Given the description of an element on the screen output the (x, y) to click on. 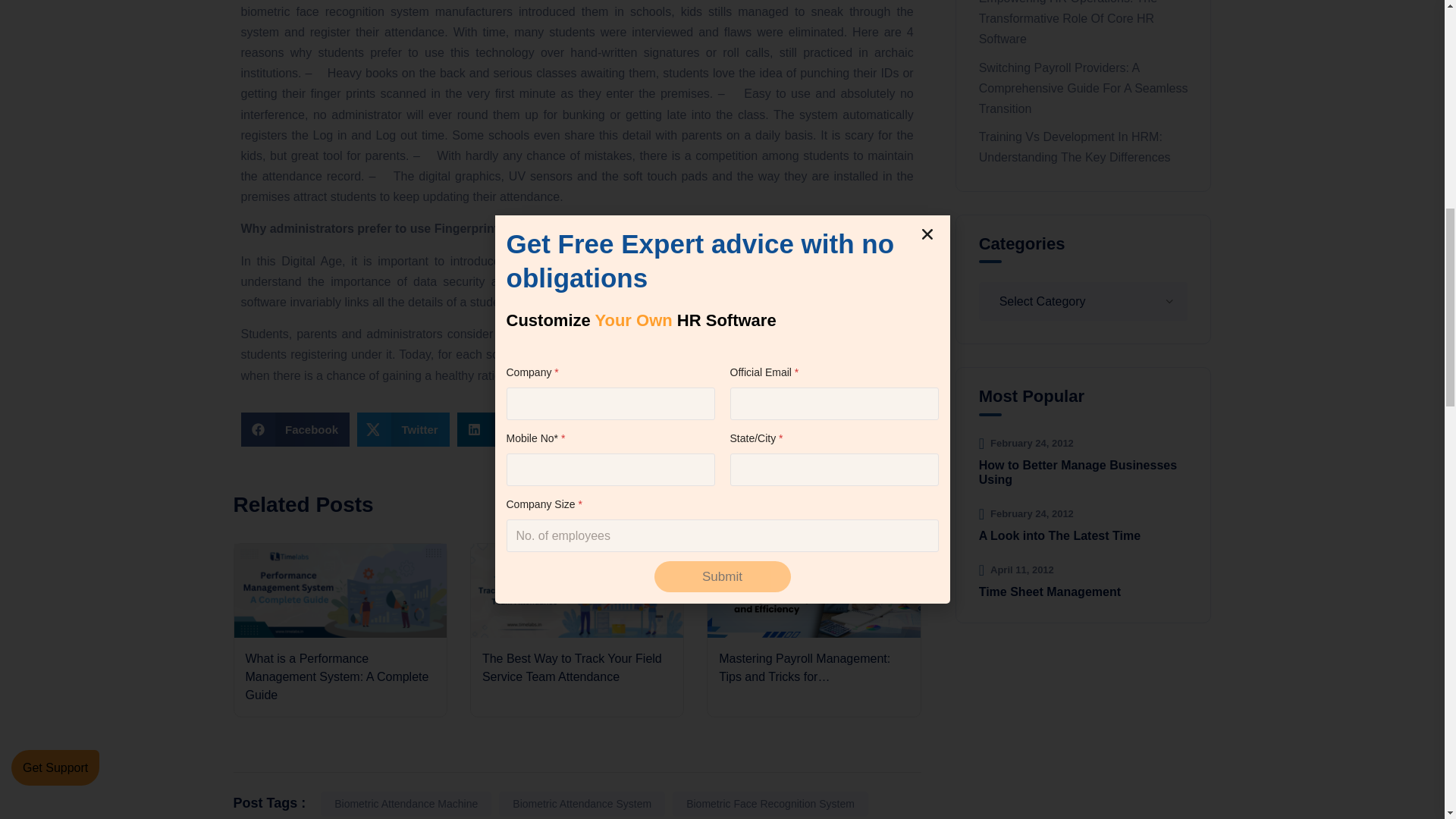
What is a Performance Management System: A Complete Guide (339, 629)
